Given the description of an element on the screen output the (x, y) to click on. 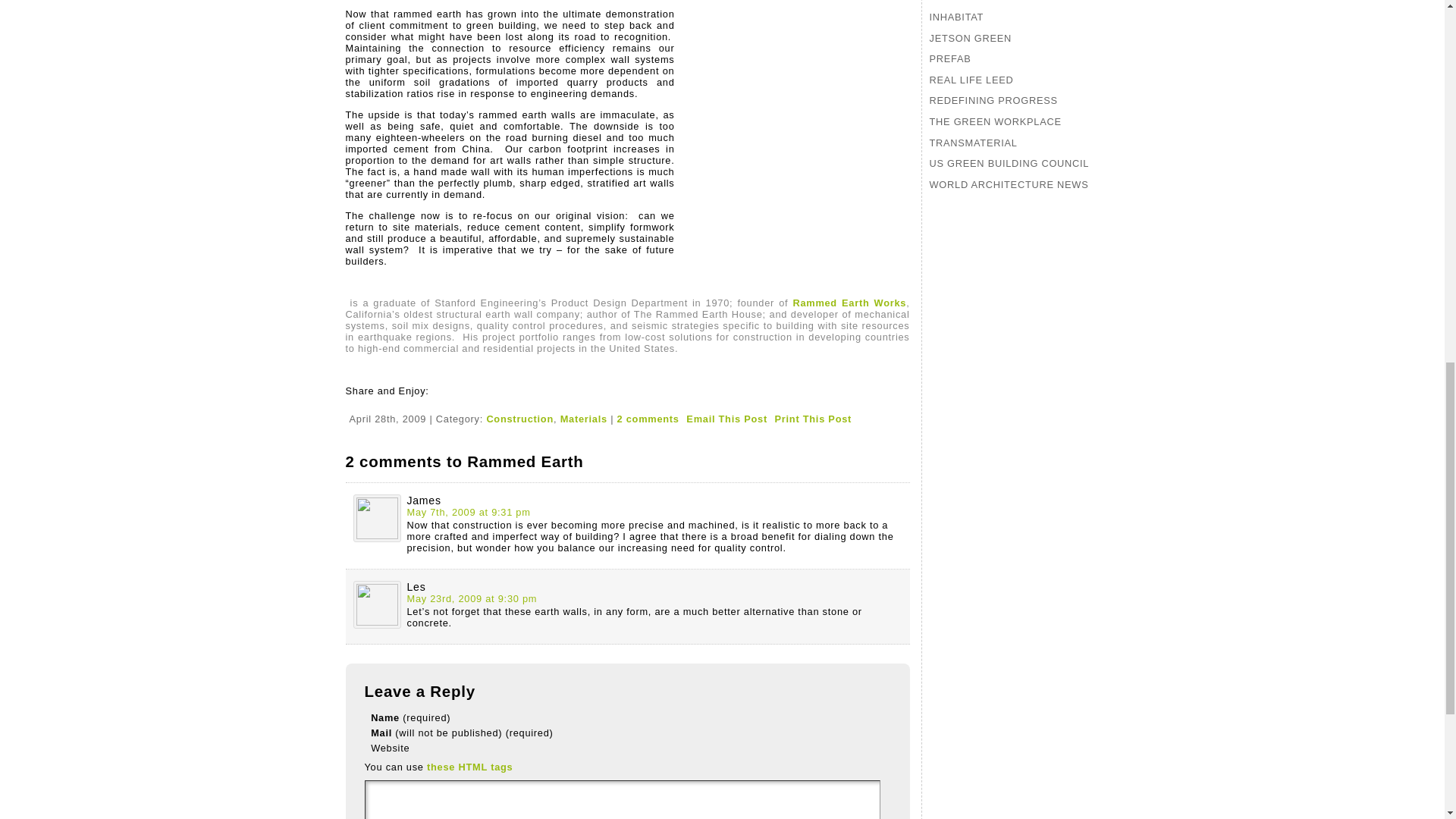
Rammed Earth Works (848, 302)
Construction (519, 419)
Digg (372, 402)
Reddit (388, 402)
Digg (372, 402)
Print This Post (812, 419)
these HTML tags (469, 767)
Google Bookmarks (353, 402)
Reddit (388, 402)
Email This Post (726, 419)
Materials (583, 419)
2 comments (648, 419)
May 7th, 2009 at 9:31 pm (467, 511)
